Given the description of an element on the screen output the (x, y) to click on. 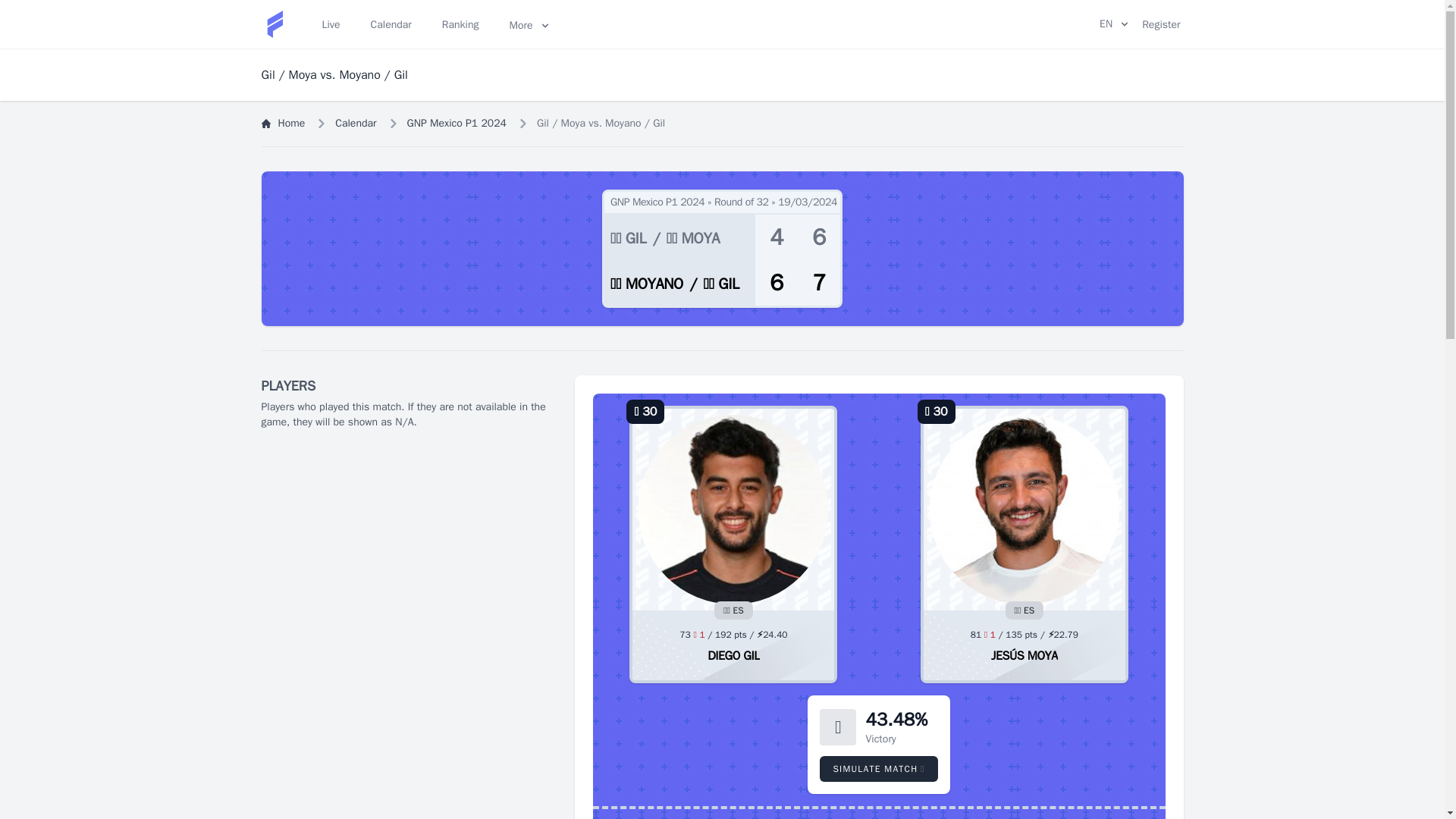
Register (1160, 24)
DIEGO GIL (733, 655)
Home (282, 123)
Diego Gil (733, 655)
Diego Gil (732, 509)
SIMULATE MATCH (878, 768)
EN (1113, 23)
More (528, 24)
GNP Mexico P1 2024 (456, 123)
Calendar (354, 123)
Calendar (391, 24)
